Given the description of an element on the screen output the (x, y) to click on. 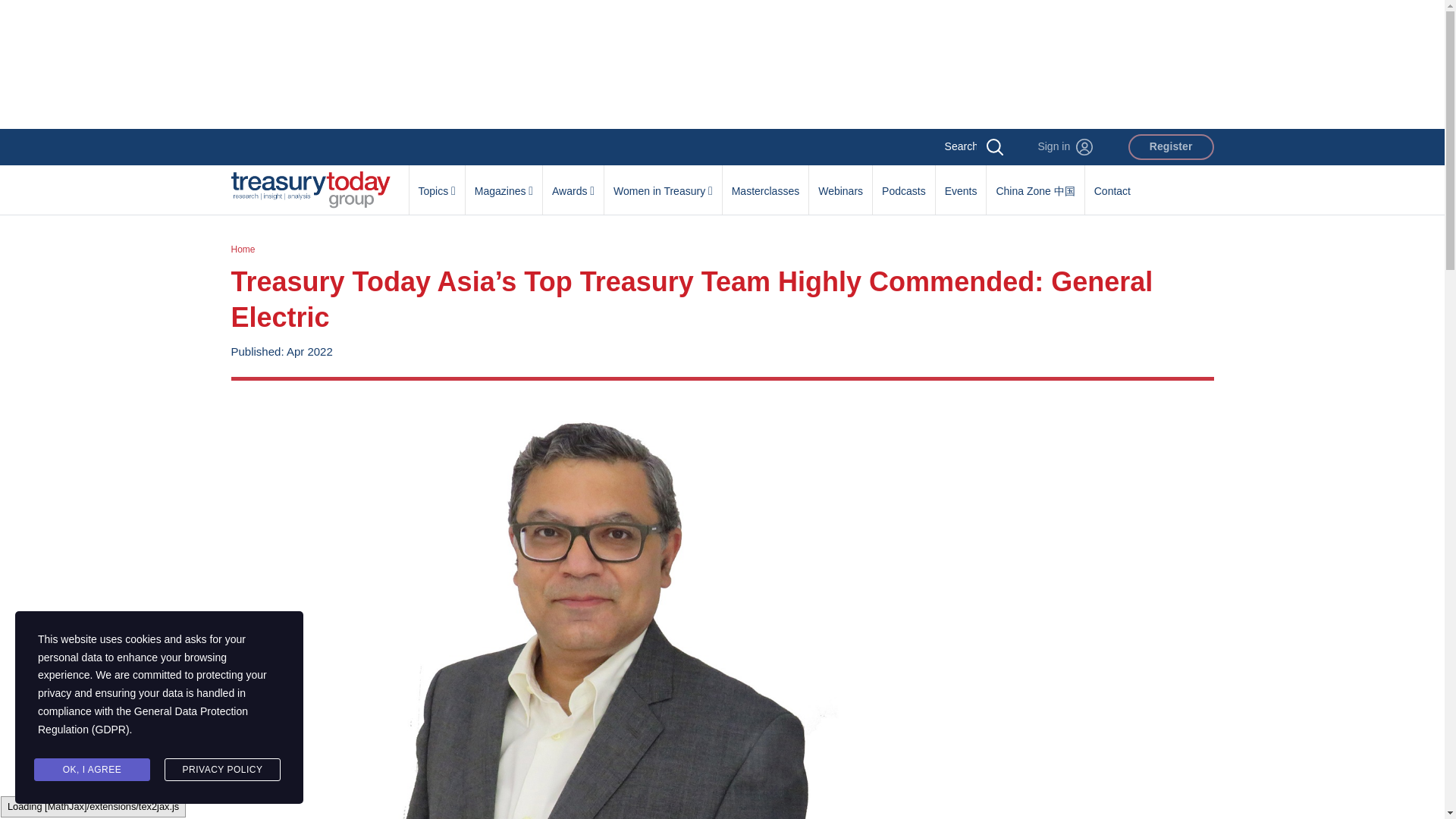
Masterclasses (765, 182)
3rd party ad content (1097, 726)
Register (1171, 146)
Topics  (436, 182)
Webinars (840, 182)
3rd party ad content (1097, 506)
Sign in (1064, 146)
Awards  (573, 182)
Magazines  (503, 182)
3rd party ad content (721, 63)
Women in Treasury  (663, 182)
